Given the description of an element on the screen output the (x, y) to click on. 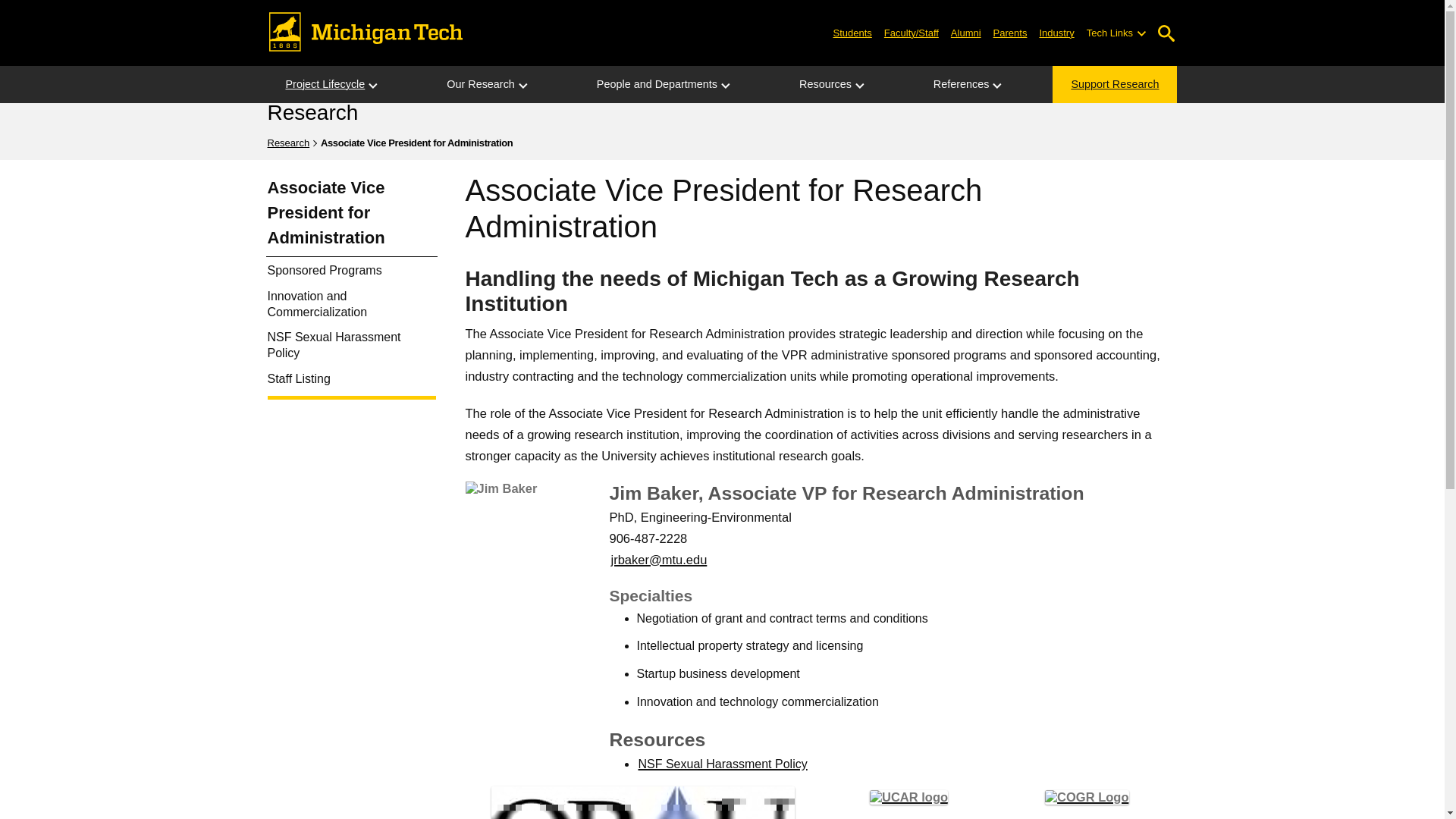
Open Search (1166, 33)
Industry (1056, 32)
Parents (1010, 32)
Students (852, 32)
Alumni (965, 32)
Project Lifecycle (324, 84)
